Given the description of an element on the screen output the (x, y) to click on. 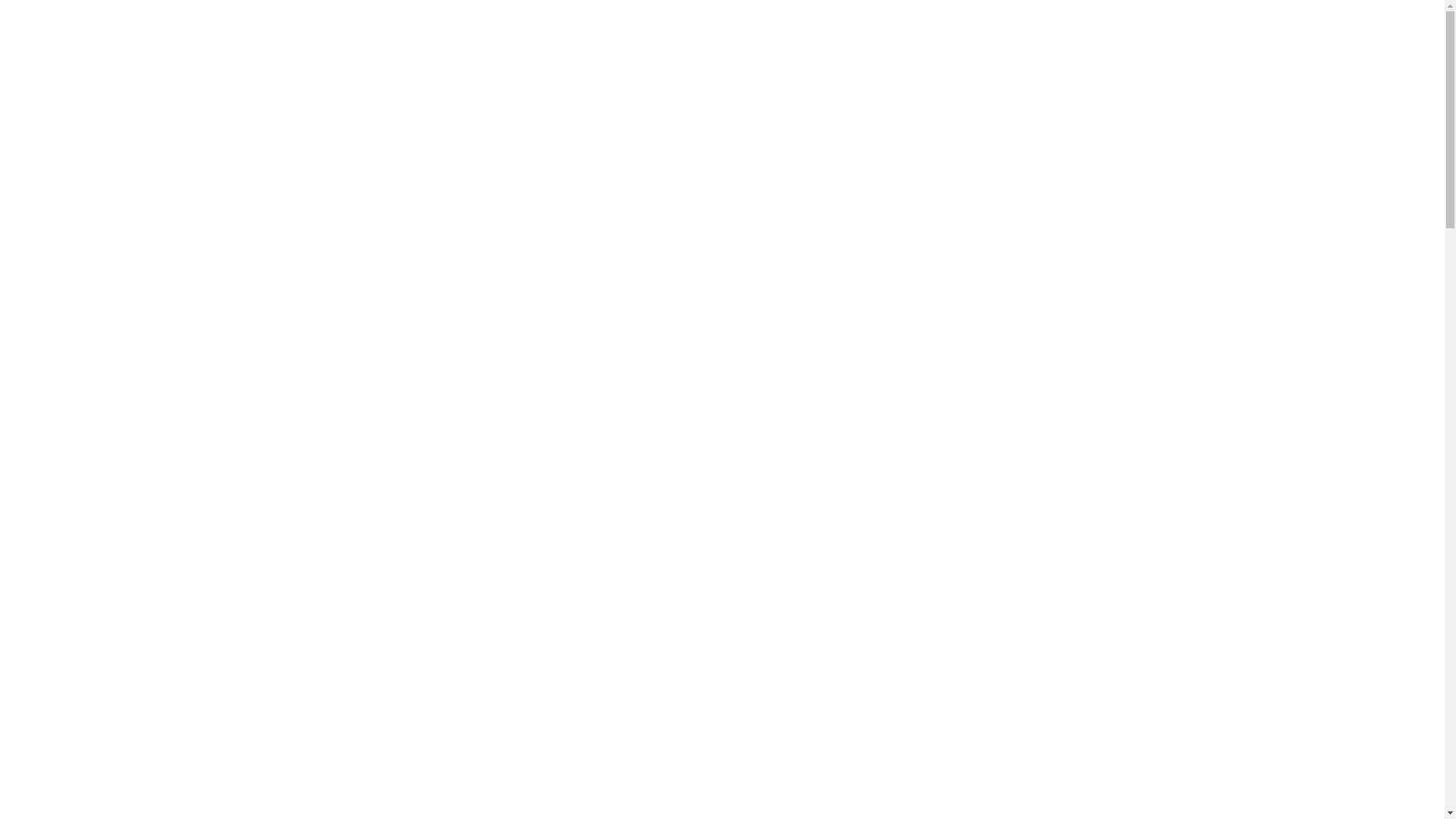
Designers Element type: text (1090, 55)
OUTDOOR AREAS
Weber-Q Cooking Element type: text (463, 487)
Displays Element type: text (958, 55)
Showrooms Element type: text (1165, 55)
Stressless Element type: text (1239, 55)
Contact Element type: text (1353, 55)
Gallery Element type: text (1026, 55)
About Element type: text (1298, 55)
OUTDOOR AREAS
BBQ Corner Element type: text (979, 487)
